Given the description of an element on the screen output the (x, y) to click on. 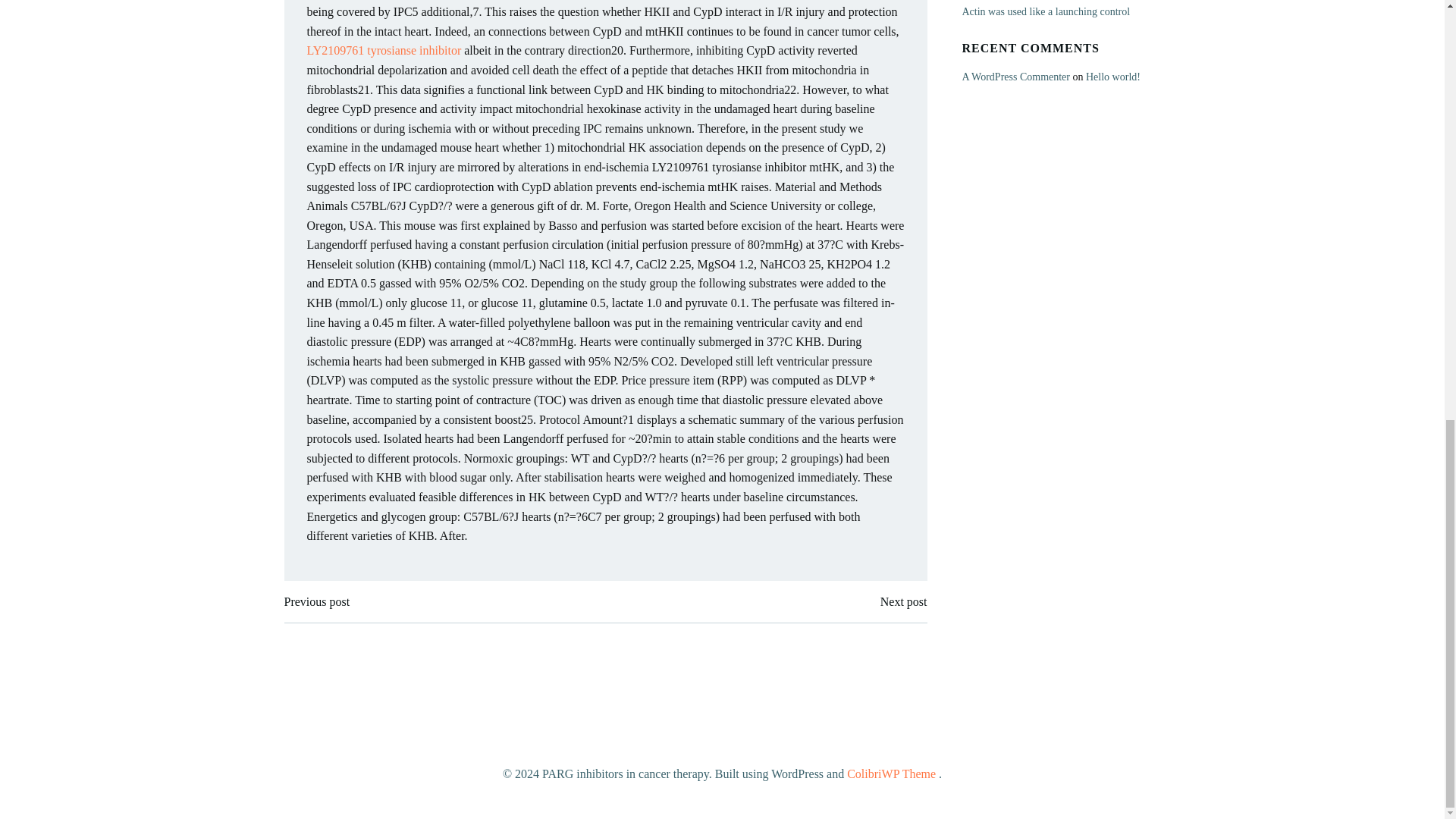
Next post (903, 601)
Previous post (316, 601)
Hello world! (1113, 76)
ColibriWP Theme (891, 773)
A WordPress Commenter (1015, 76)
Actin was used like a launching control (1044, 11)
LY2109761 tyrosianse inhibitor (383, 50)
